Given the description of an element on the screen output the (x, y) to click on. 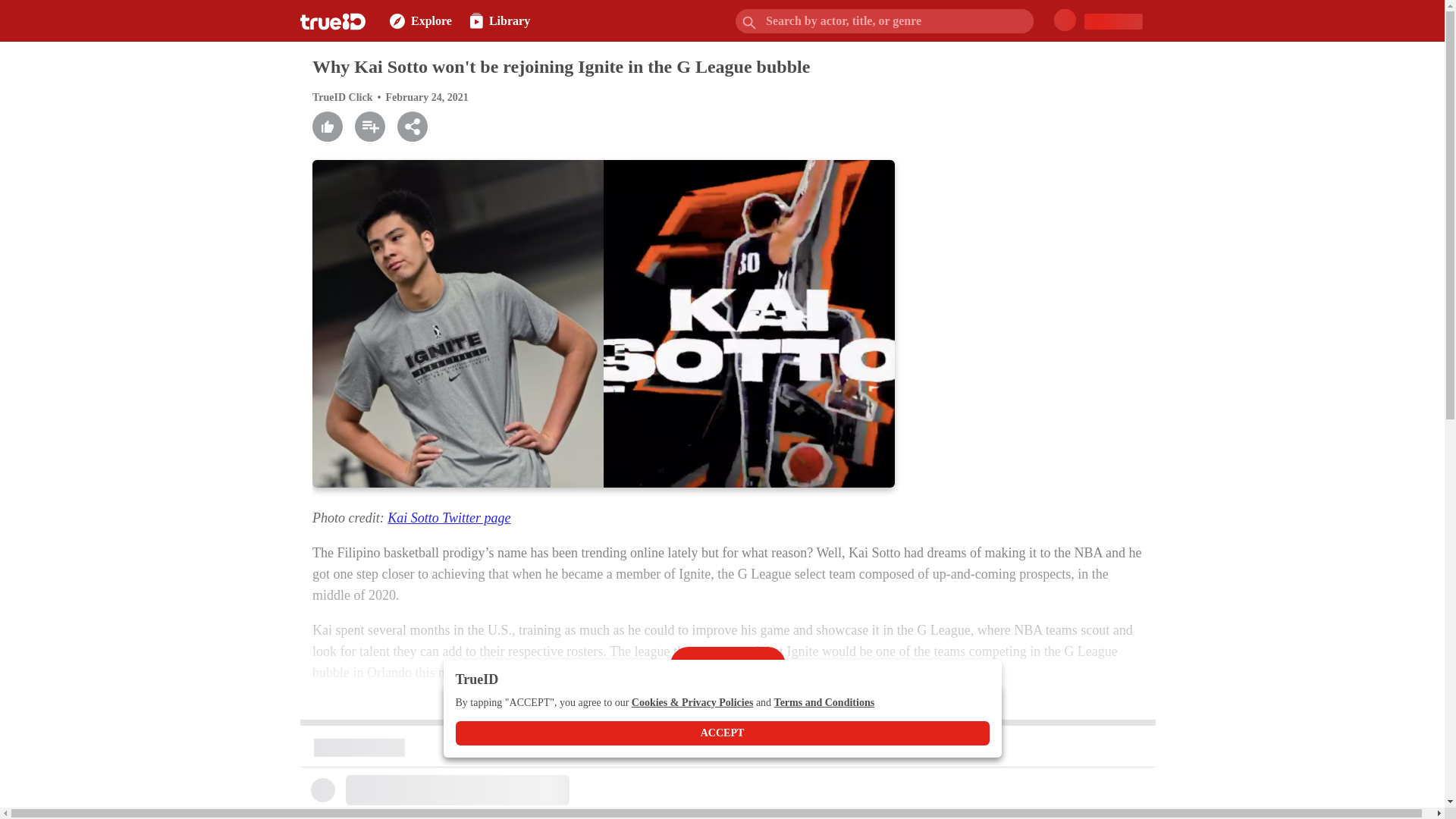
Explore (408, 21)
ACCEPT (721, 733)
Loading... (451, 748)
Terms and Conditions (824, 702)
Later (581, 735)
Kai Sotto Twitter page (449, 517)
RATE NOW (502, 733)
Library (490, 21)
Loading... (451, 793)
